Given the description of an element on the screen output the (x, y) to click on. 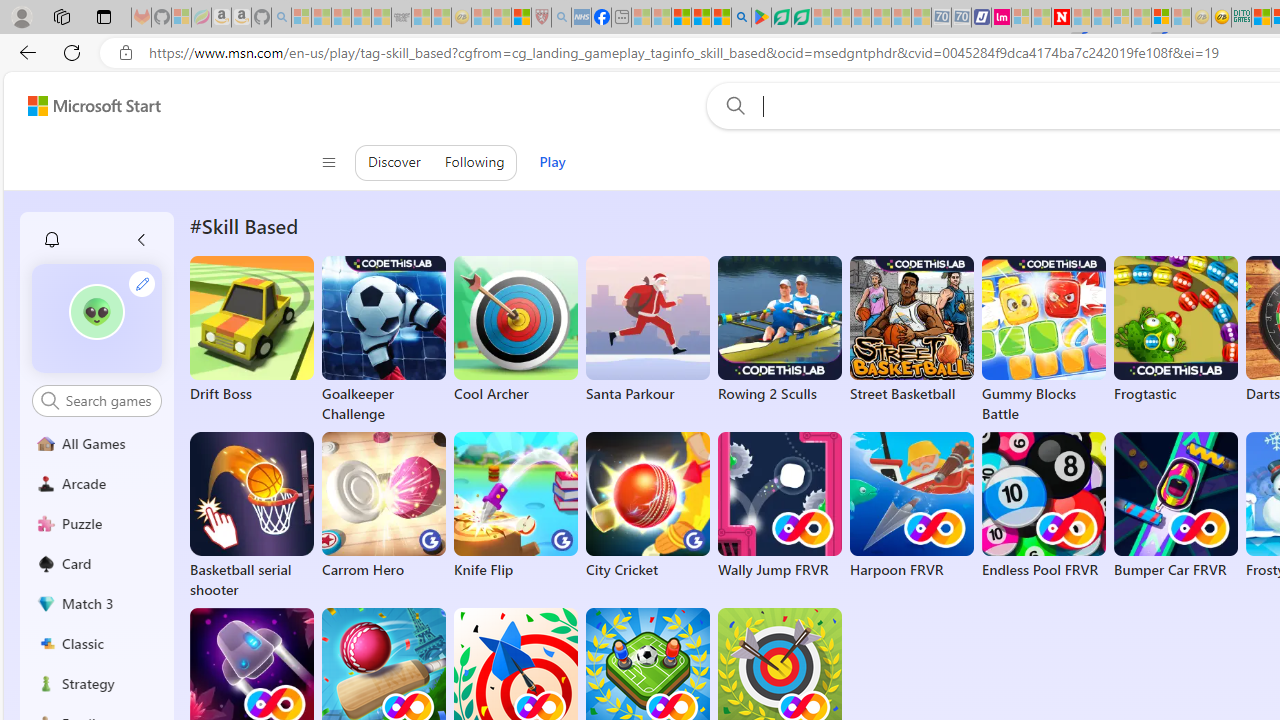
Carrom Hero (383, 506)
Bluey: Let's Play! - Apps on Google Play (760, 17)
Cool Archer (516, 329)
Bumper Car FRVR (1175, 506)
Santa Parkour (648, 329)
Harpoon FRVR (911, 506)
""'s avatar (97, 318)
